Given the description of an element on the screen output the (x, y) to click on. 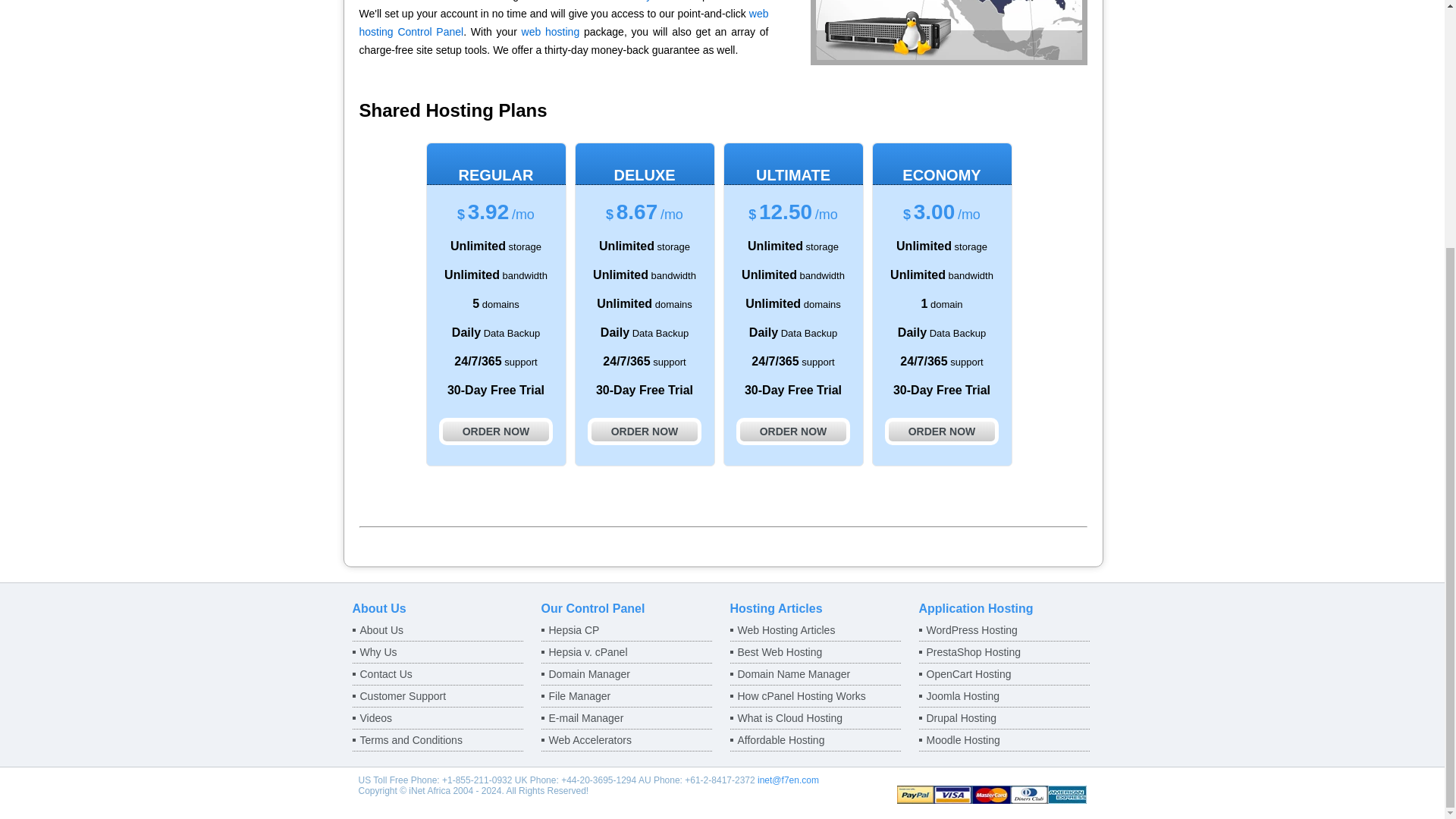
Website Hosting in US (947, 32)
web hosting (550, 31)
web hosting Control Panel (563, 22)
ORDER NOW (793, 431)
data center facility (606, 0)
ORDER NOW (644, 431)
About Us (437, 629)
ORDER NOW (496, 431)
ORDER NOW (941, 431)
